Given the description of an element on the screen output the (x, y) to click on. 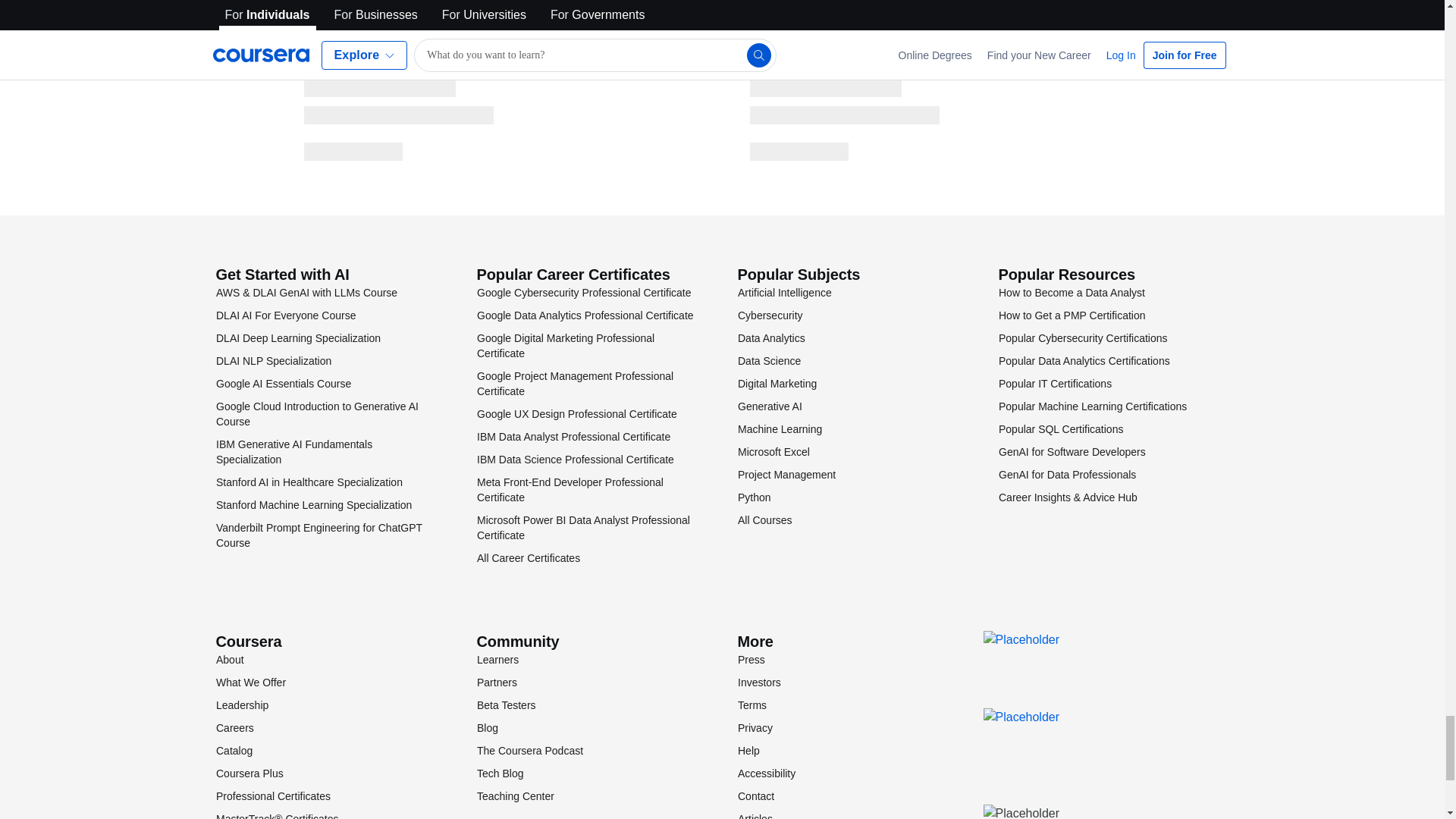
Stanford AI in Healthcare Specialization (308, 481)
Stanford Machine Learning Specialization (312, 504)
DLAI Deep Learning Specialization (297, 337)
Vanderbilt Prompt Engineering for ChatGPT Course (318, 534)
Google Cloud Introduction to Generative AI Course (316, 413)
Google Data Analytics Professional Certificate (584, 315)
Google AI Essentials Course (282, 383)
Google Digital Marketing Professional Certificate (564, 345)
DLAI NLP Specialization (272, 360)
Google Cybersecurity Professional Certificate (583, 292)
